Given the description of an element on the screen output the (x, y) to click on. 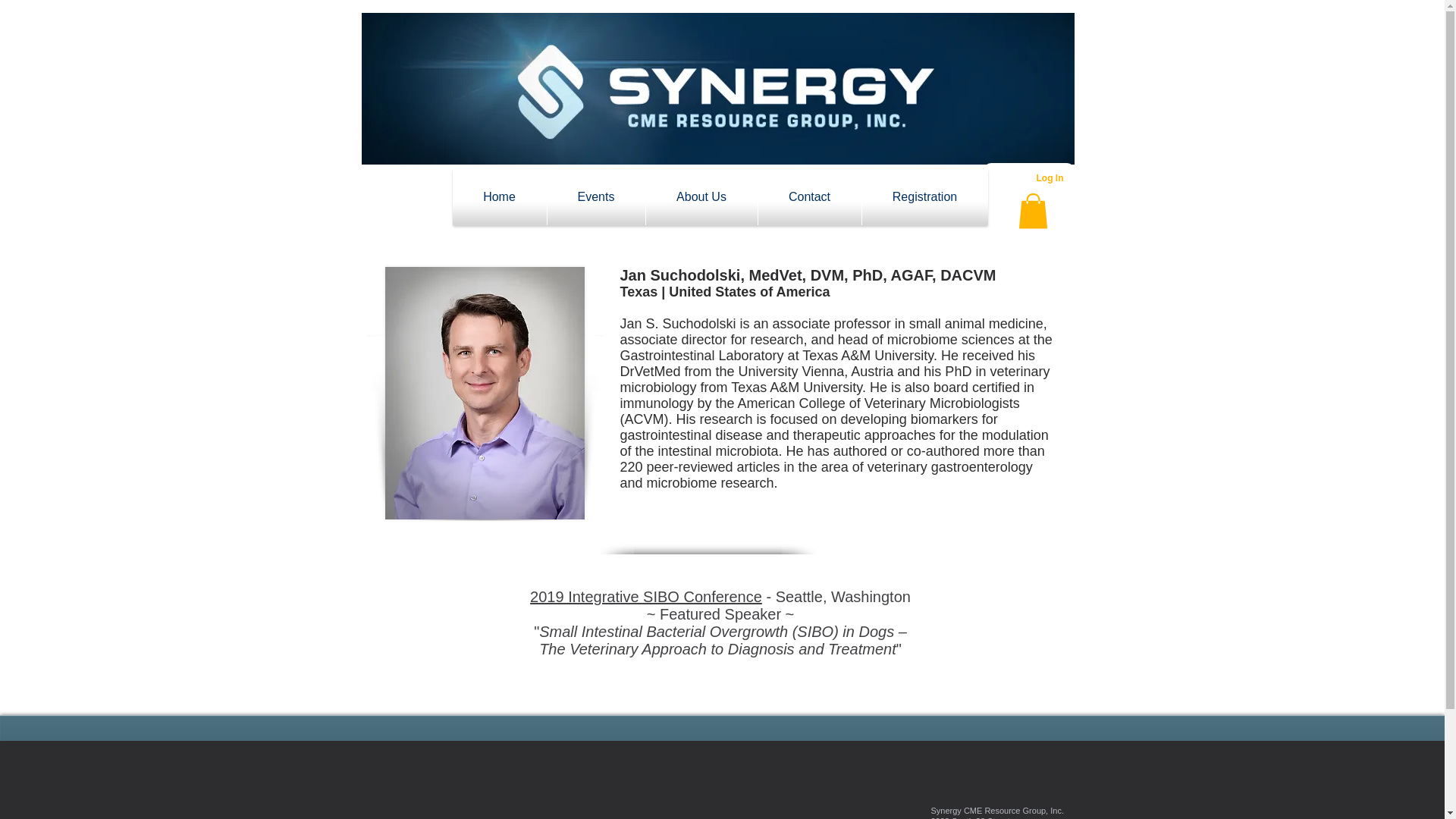
Contact (809, 196)
Home (498, 196)
Registration (924, 196)
2019 Integrative SIBO Conference (645, 596)
Log In (1049, 178)
About Us (701, 196)
